Given the description of an element on the screen output the (x, y) to click on. 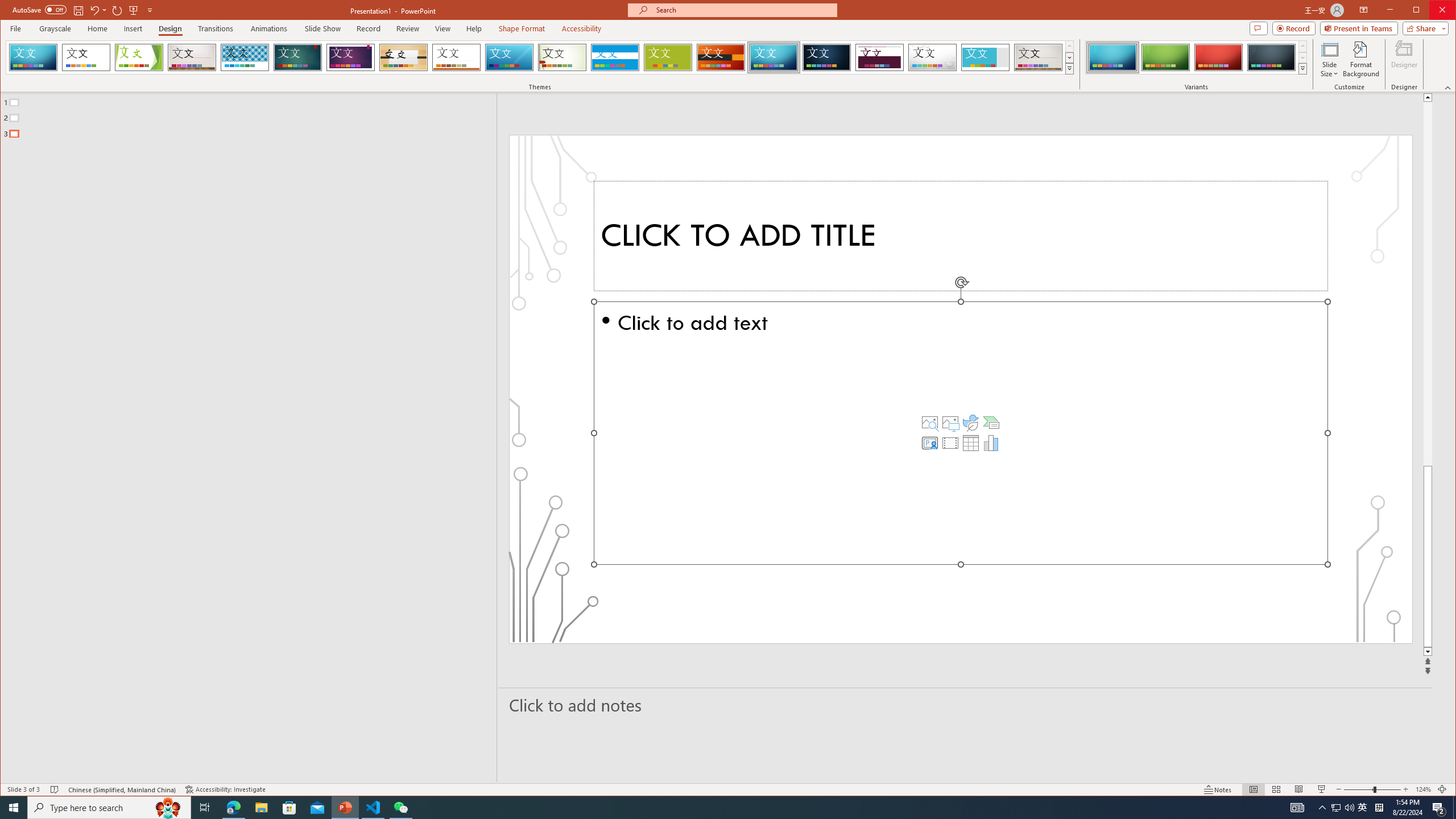
Office Theme (85, 57)
Comments (1258, 28)
Shape Format (521, 28)
Insert Video (949, 443)
Search highlights icon opens search home window (167, 807)
PowerPoint - 1 running window (345, 807)
Rectangle (242, 436)
Pictures (949, 422)
Collapse the Ribbon (1448, 87)
Save (77, 9)
Insert a SmartArt Graphic (991, 422)
Line up (1427, 96)
Redo (117, 9)
Zoom to Fit  (1441, 789)
